Given the description of an element on the screen output the (x, y) to click on. 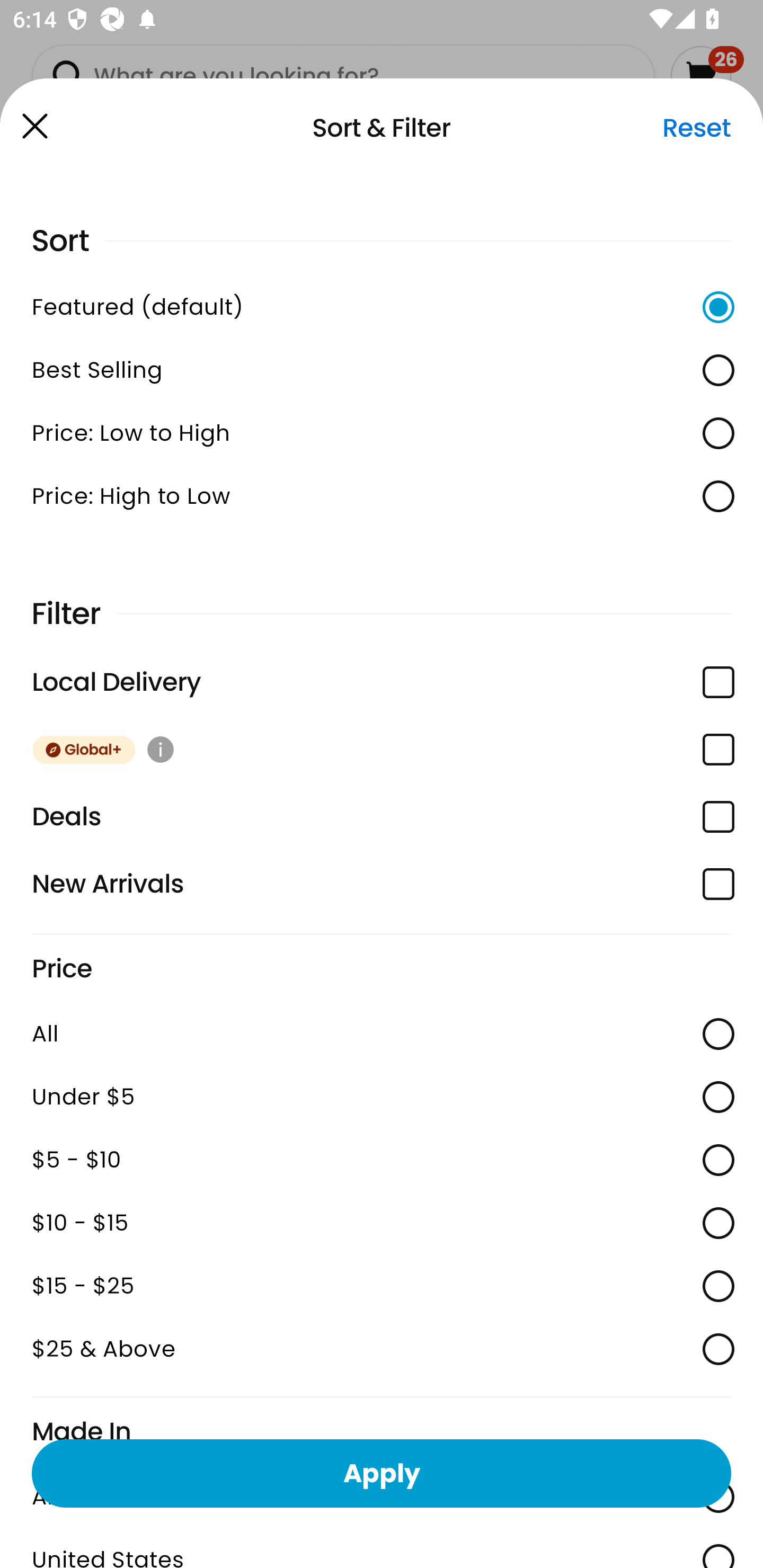
Reset (696, 127)
Apply (381, 1472)
